Given the description of an element on the screen output the (x, y) to click on. 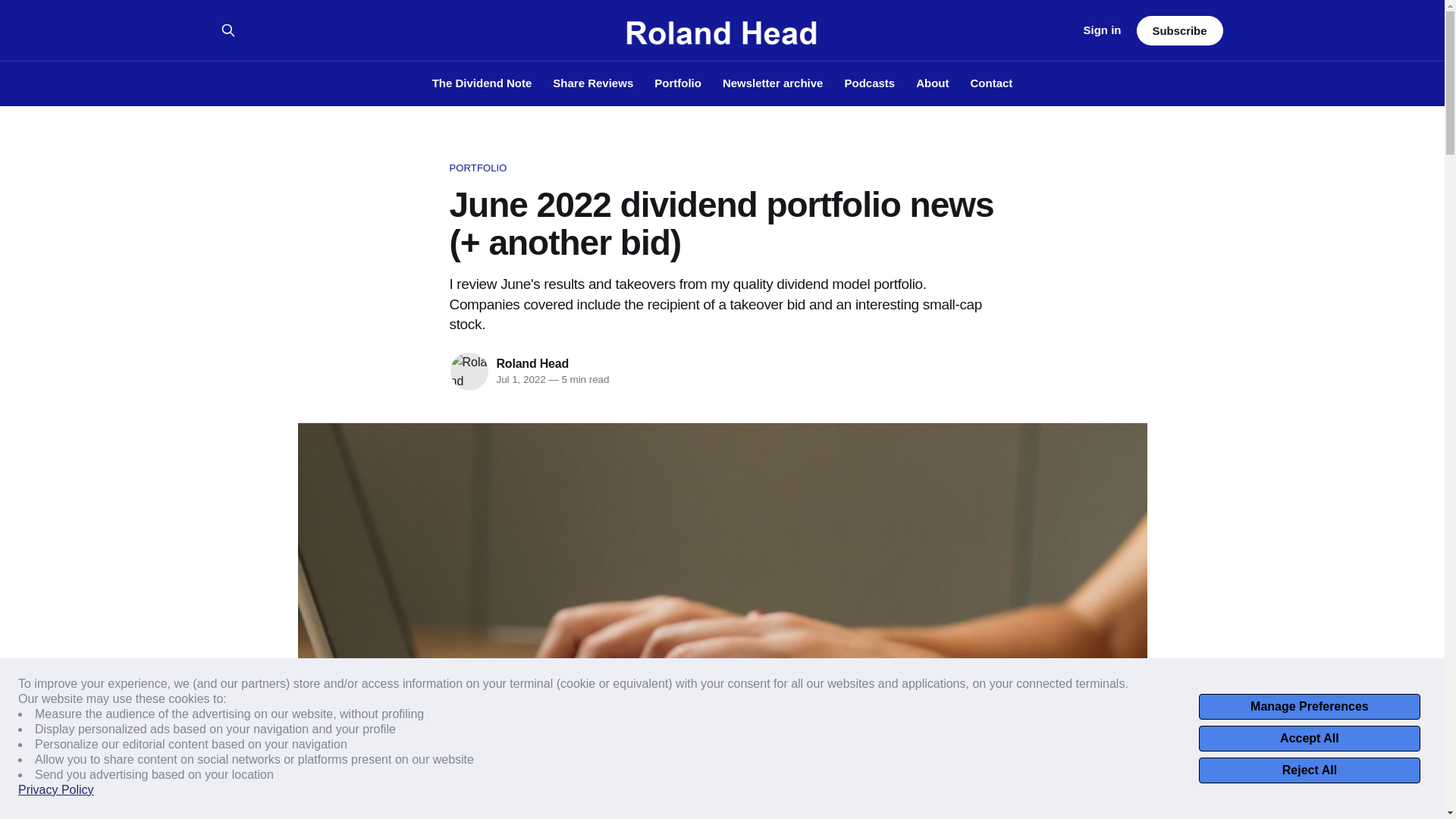
Newsletter archive (773, 82)
Privacy Policy (55, 789)
Contact (992, 82)
Podcasts (869, 82)
Share Reviews (593, 82)
Manage Preferences (1309, 706)
Accept All (1309, 738)
The Dividend Note (482, 82)
About (932, 82)
Portfolio (677, 82)
Subscribe (1179, 30)
PORTFOLIO (721, 168)
Sign in (1102, 30)
Roland Head (532, 363)
Reject All (1309, 769)
